Given the description of an element on the screen output the (x, y) to click on. 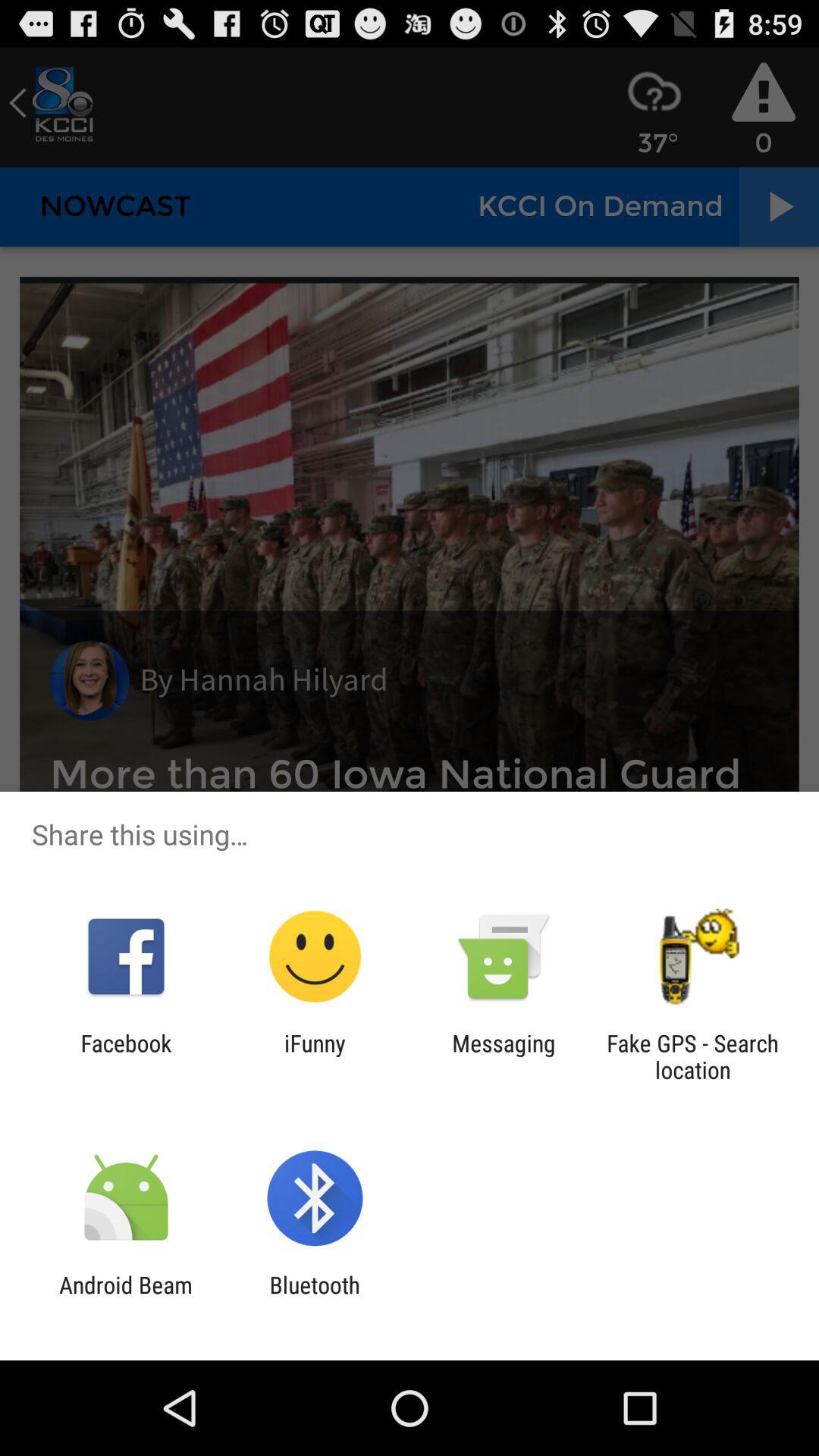
select icon next to ifunny app (125, 1056)
